Given the description of an element on the screen output the (x, y) to click on. 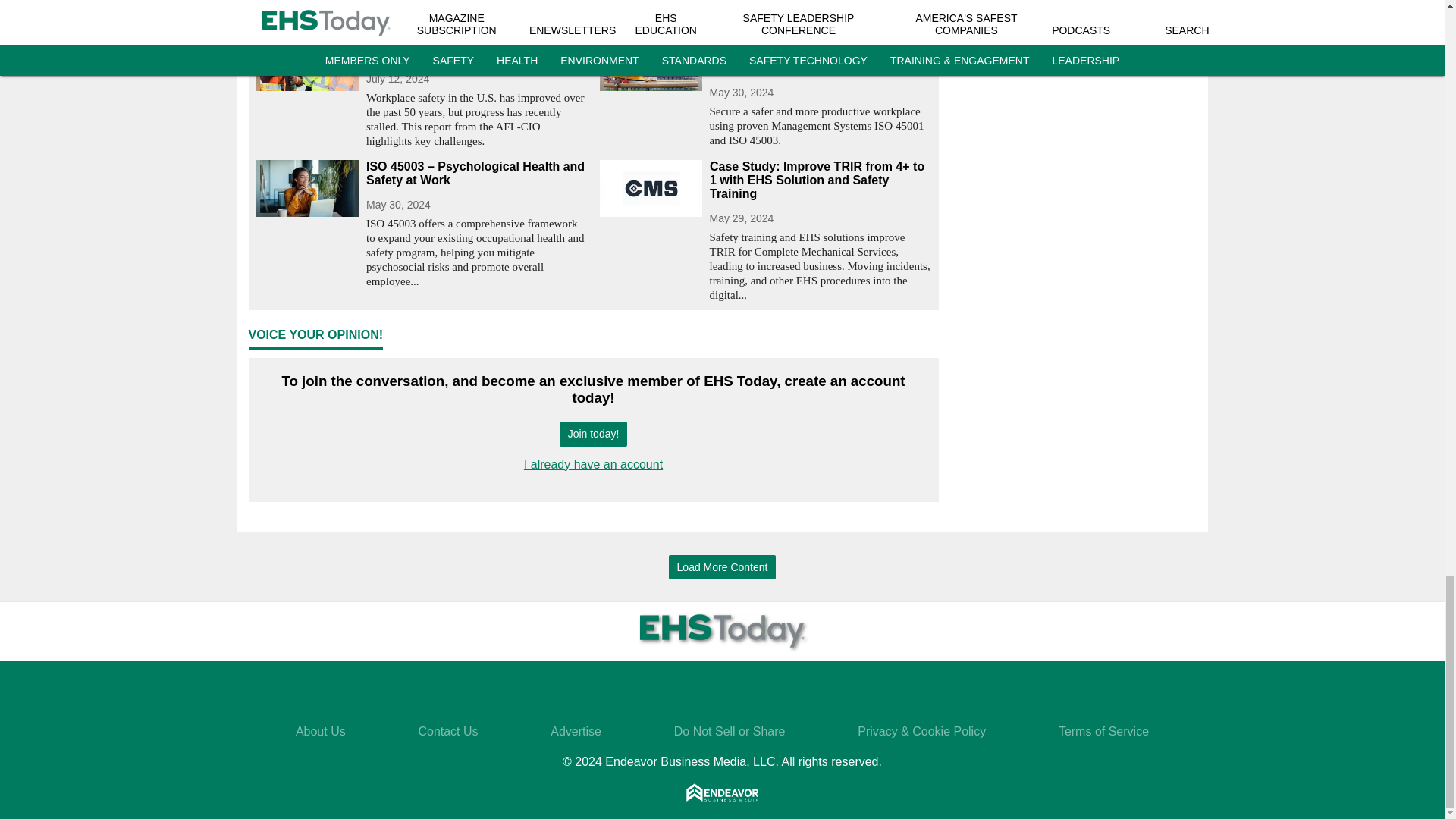
10 Facts About the State of Workplace Safety in the U.S. (476, 47)
I already have an account (593, 463)
Join today! (593, 433)
